Given the description of an element on the screen output the (x, y) to click on. 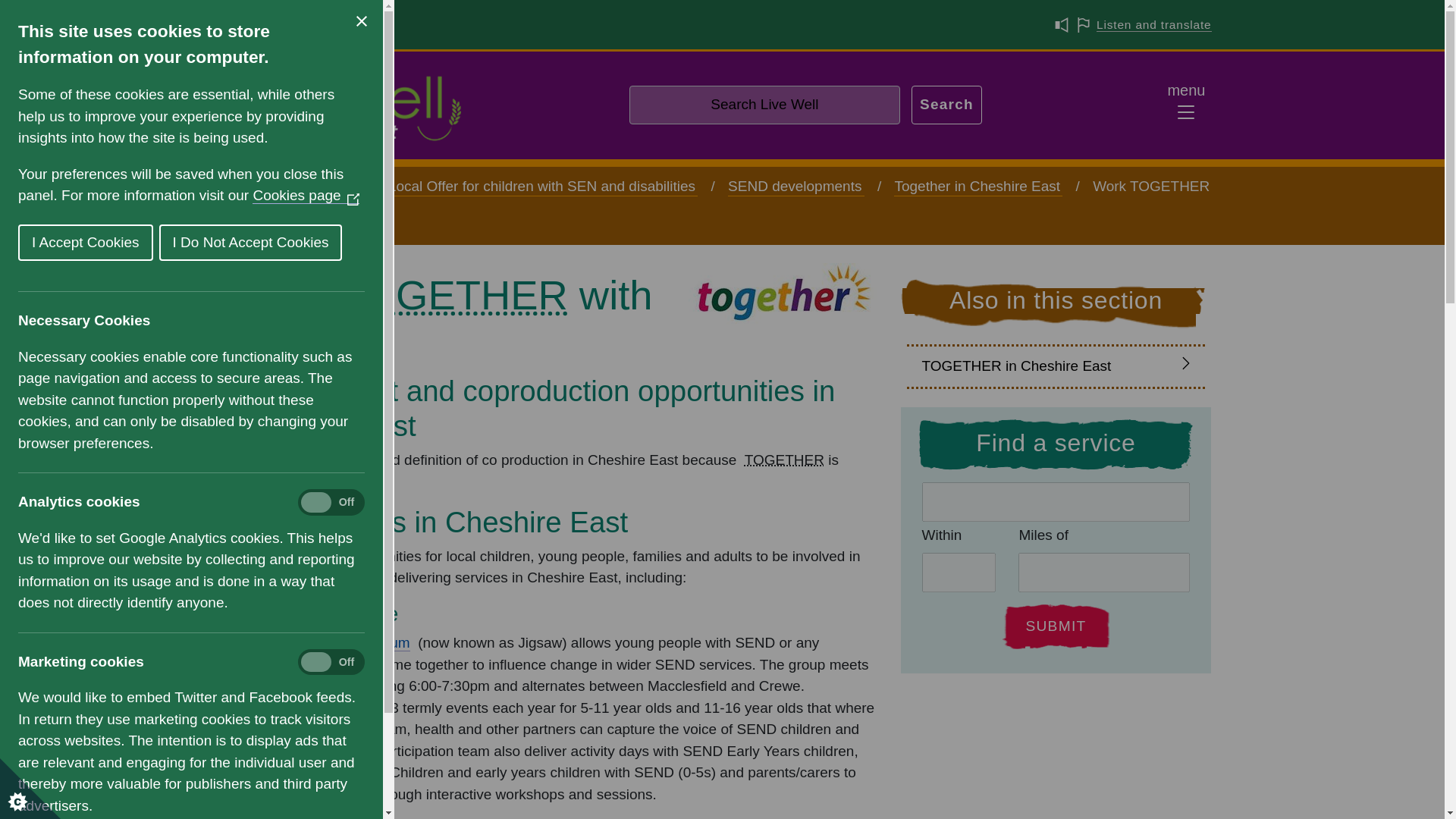
Livewell (331, 186)
I Do Not Accept Cookies (87, 242)
SEND Youth Forum (346, 642)
Search (946, 104)
Local Offer for children with SEN and disabilities (542, 186)
Together in Cheshire East (977, 186)
Search (946, 104)
Search (946, 104)
Listen and translate (1153, 24)
skip to main content (69, 0)
Live Well Cheshire East home page (346, 105)
Home (253, 186)
SEND developments (796, 186)
